Given the description of an element on the screen output the (x, y) to click on. 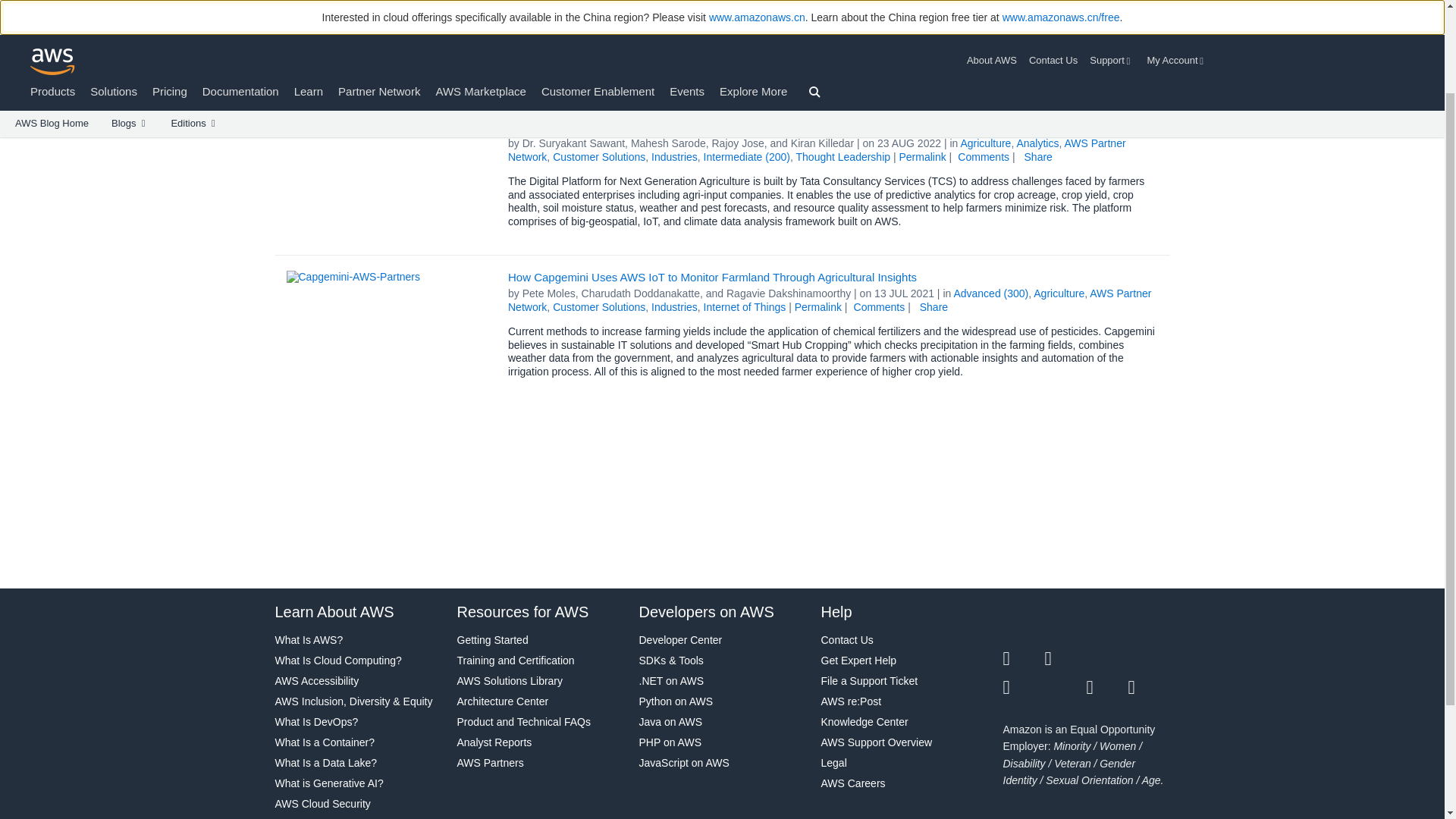
View all posts in Agriculture (1058, 293)
Facebook (1065, 658)
View all posts in AWS Partner Network (816, 149)
View all posts in AWS Partner Network (829, 299)
View all posts in Customer Solutions (599, 306)
View all posts in Internet of Things (744, 306)
Skip to Main Content (7, 33)
View all posts in Customer Solutions (599, 156)
View all posts in Industries (673, 156)
View all posts in Industries (673, 306)
View all posts in Thought Leadership (843, 156)
Twitter (1023, 658)
View all posts in Agriculture (984, 143)
View all posts in Analytics (1037, 143)
